Given the description of an element on the screen output the (x, y) to click on. 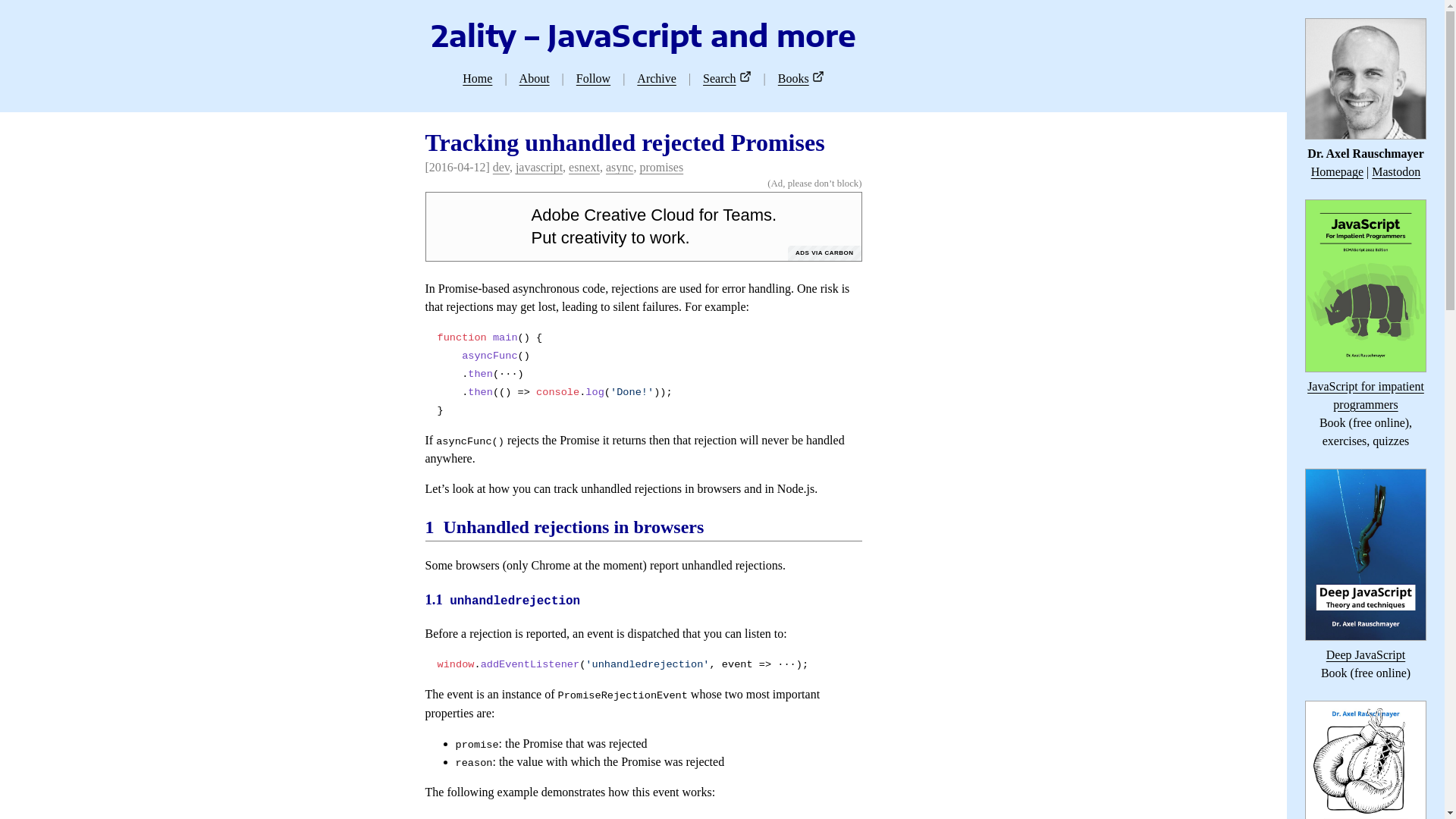
esnext Element type: text (583, 166)
promises Element type: text (661, 166)
About Element type: text (534, 78)
async Element type: text (619, 166)
Search Element type: text (719, 78)
Archive Element type: text (656, 78)
JavaScript for impatient programmers Element type: text (1365, 395)
Deep JavaScript Element type: text (1365, 654)
ADS VIA CARBON Element type: text (823, 252)
Books Element type: text (793, 78)
Homepage Element type: text (1337, 171)
dev Element type: text (500, 166)
javascript Element type: text (538, 166)
Follow Element type: text (593, 78)
Adobe Creative Cloud for Teams. Put creativity to work. Element type: text (665, 225)
Mastodon Element type: text (1395, 171)
Home Element type: text (477, 78)
